Given the description of an element on the screen output the (x, y) to click on. 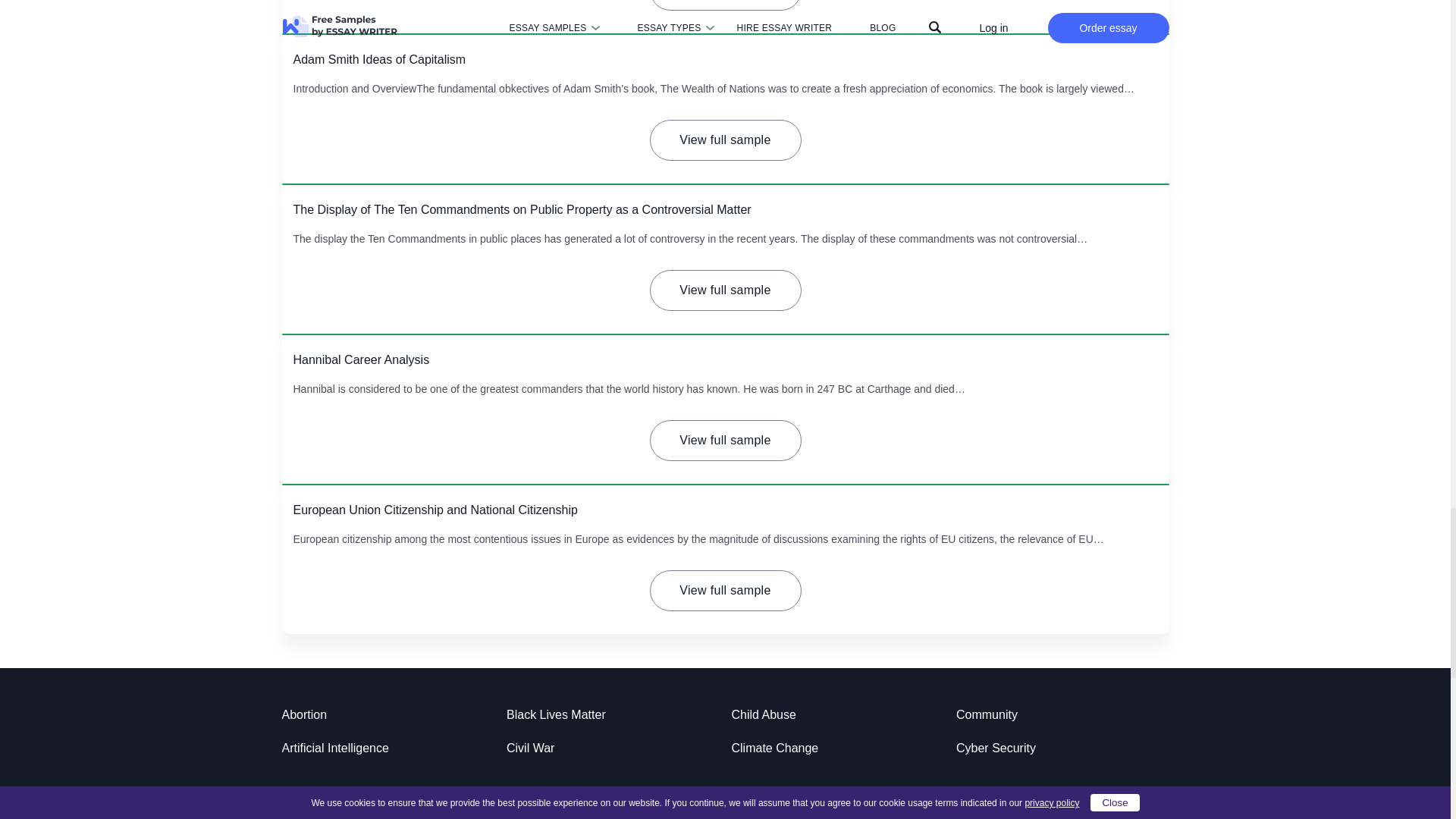
European Union Citizenship and National Citizenship (434, 509)
Adam Smith Ideas of Capitalism (378, 59)
Hannibal Career Analysis (360, 359)
